Given the description of an element on the screen output the (x, y) to click on. 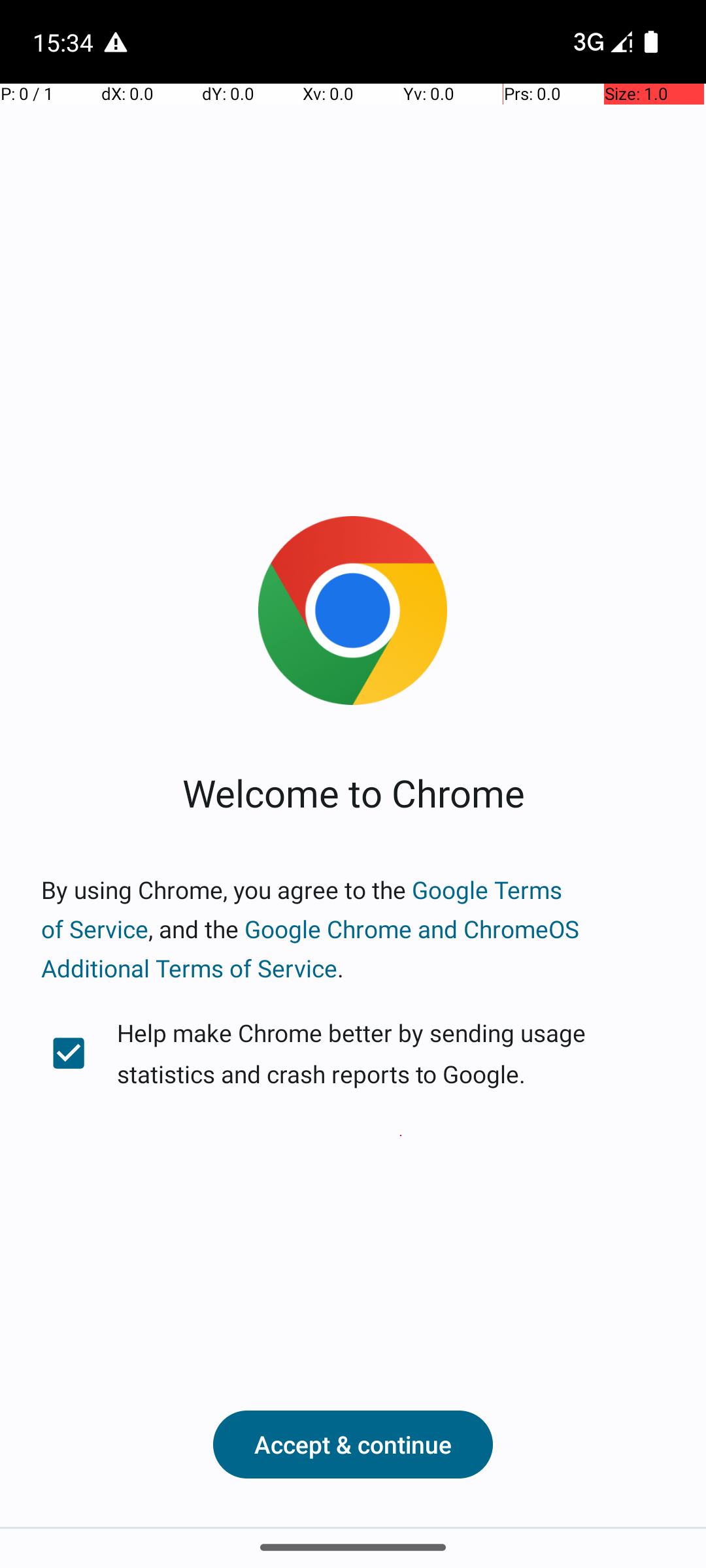
By using Chrome, you agree to the Google Terms of Service, and the Google Chrome and ChromeOS Additional Terms of Service. Element type: android.widget.TextView (352, 928)
Help make Chrome better by sending usage statistics and crash reports to Google. Element type: android.widget.CheckBox (352, 1053)
